Given the description of an element on the screen output the (x, y) to click on. 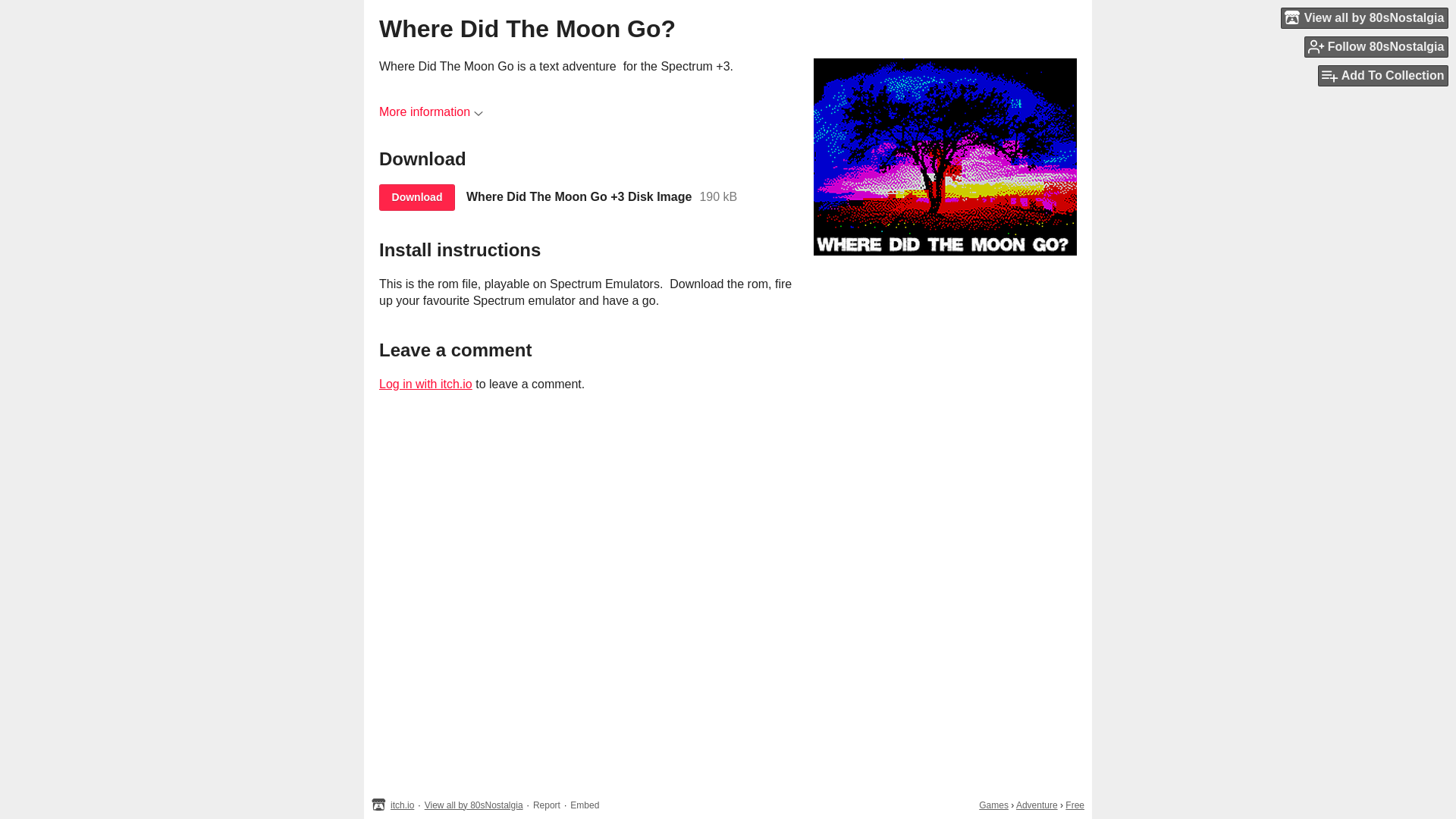
Add To Collection (1382, 75)
Free (1074, 804)
Download (416, 197)
itch.io (401, 804)
Log in with itch.io (424, 383)
Games (993, 804)
View all by 80sNostalgia (1364, 17)
Report (546, 804)
Follow 80sNostalgia (1376, 46)
Adventure (1037, 804)
Embed (584, 804)
More information (430, 111)
View all by 80sNostalgia (473, 804)
